Given the description of an element on the screen output the (x, y) to click on. 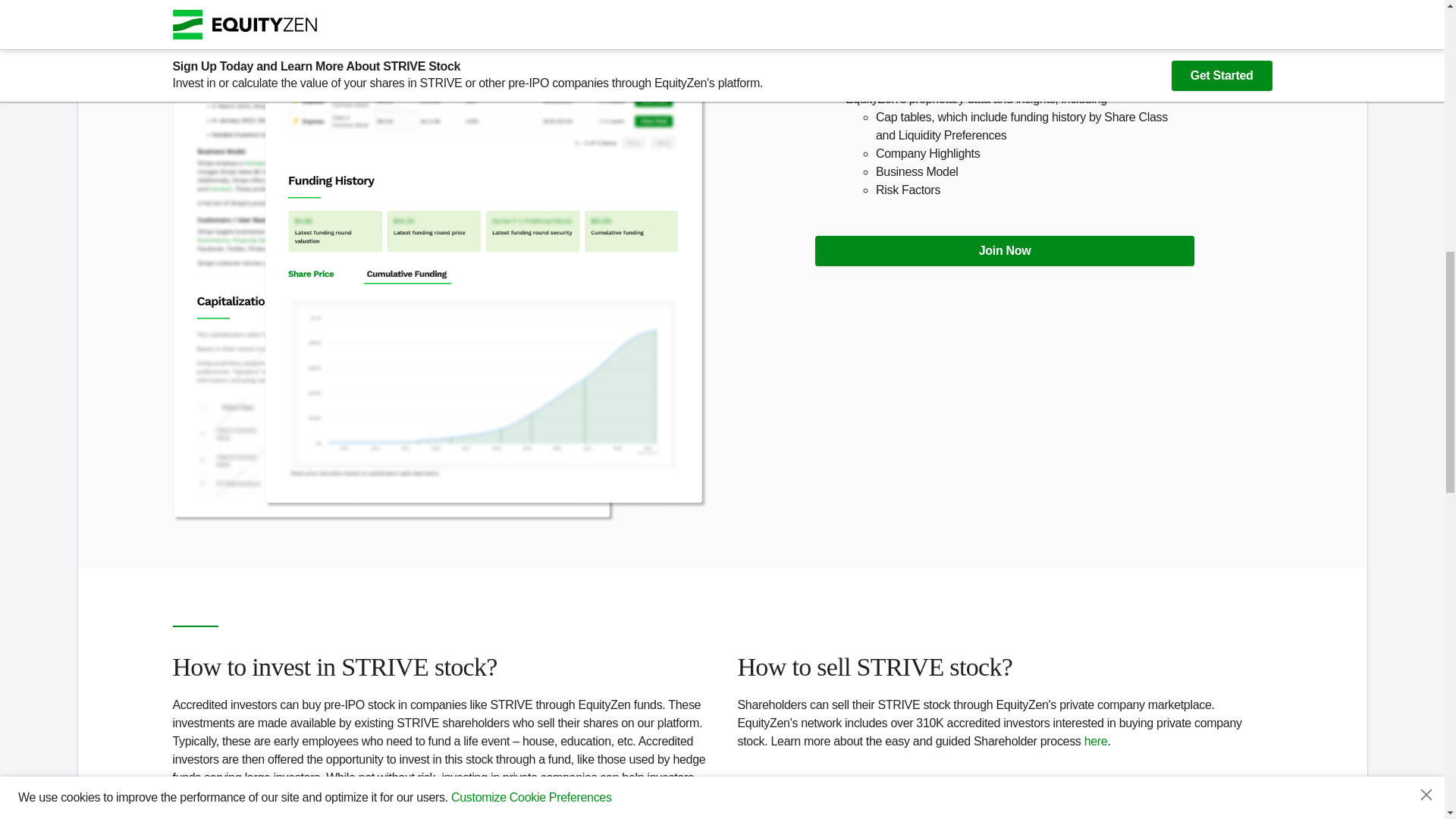
Join Now (1004, 250)
here (1096, 740)
here (381, 813)
